Given the description of an element on the screen output the (x, y) to click on. 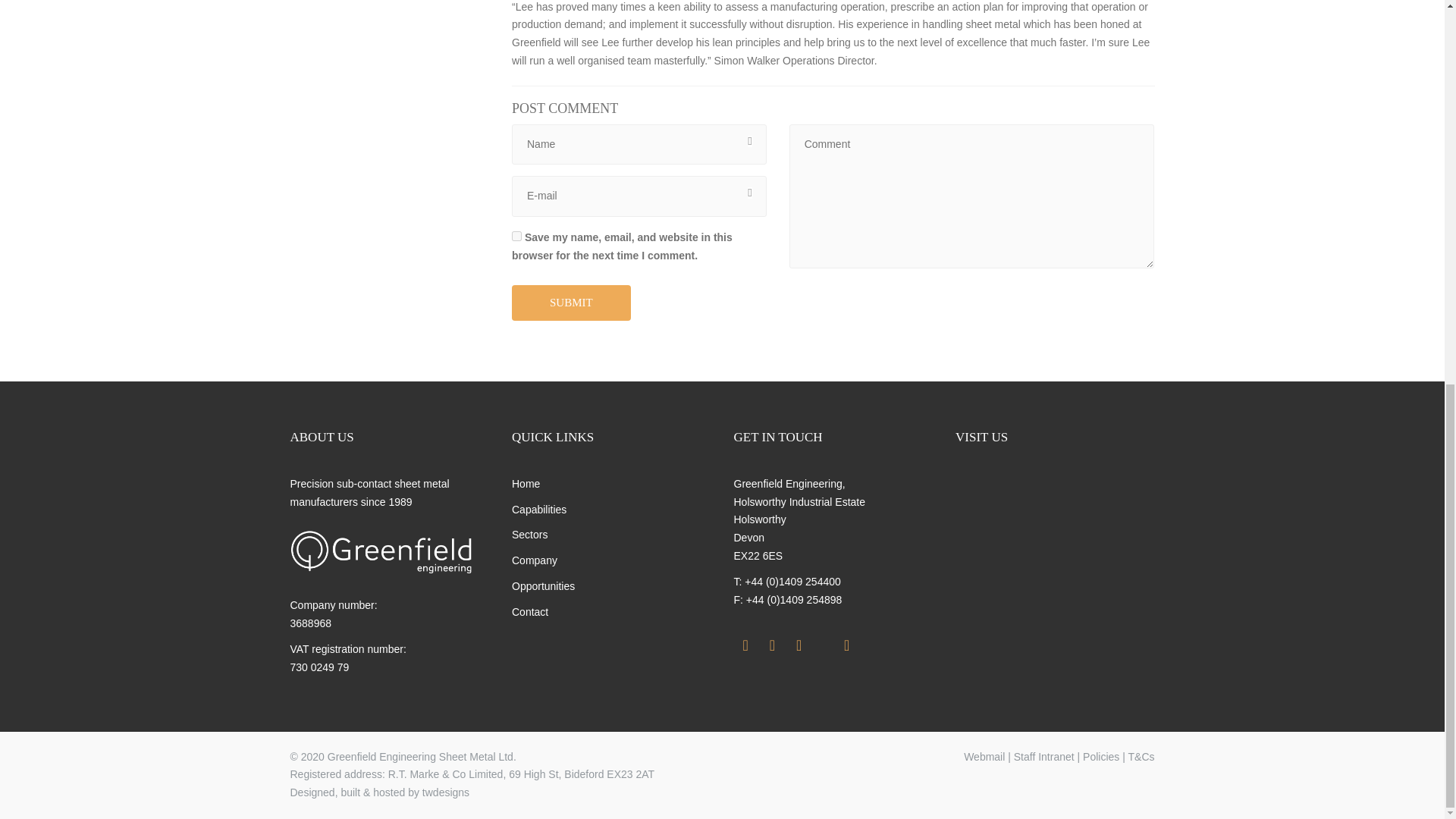
Contact (530, 612)
Staff Intranet (1043, 756)
Opportunities (543, 585)
Home (526, 483)
Company (534, 560)
Capabilities (539, 509)
Sectors (529, 534)
Webmail (983, 756)
SUBMIT (571, 303)
twdesigns (445, 792)
yes (516, 235)
